Given the description of an element on the screen output the (x, y) to click on. 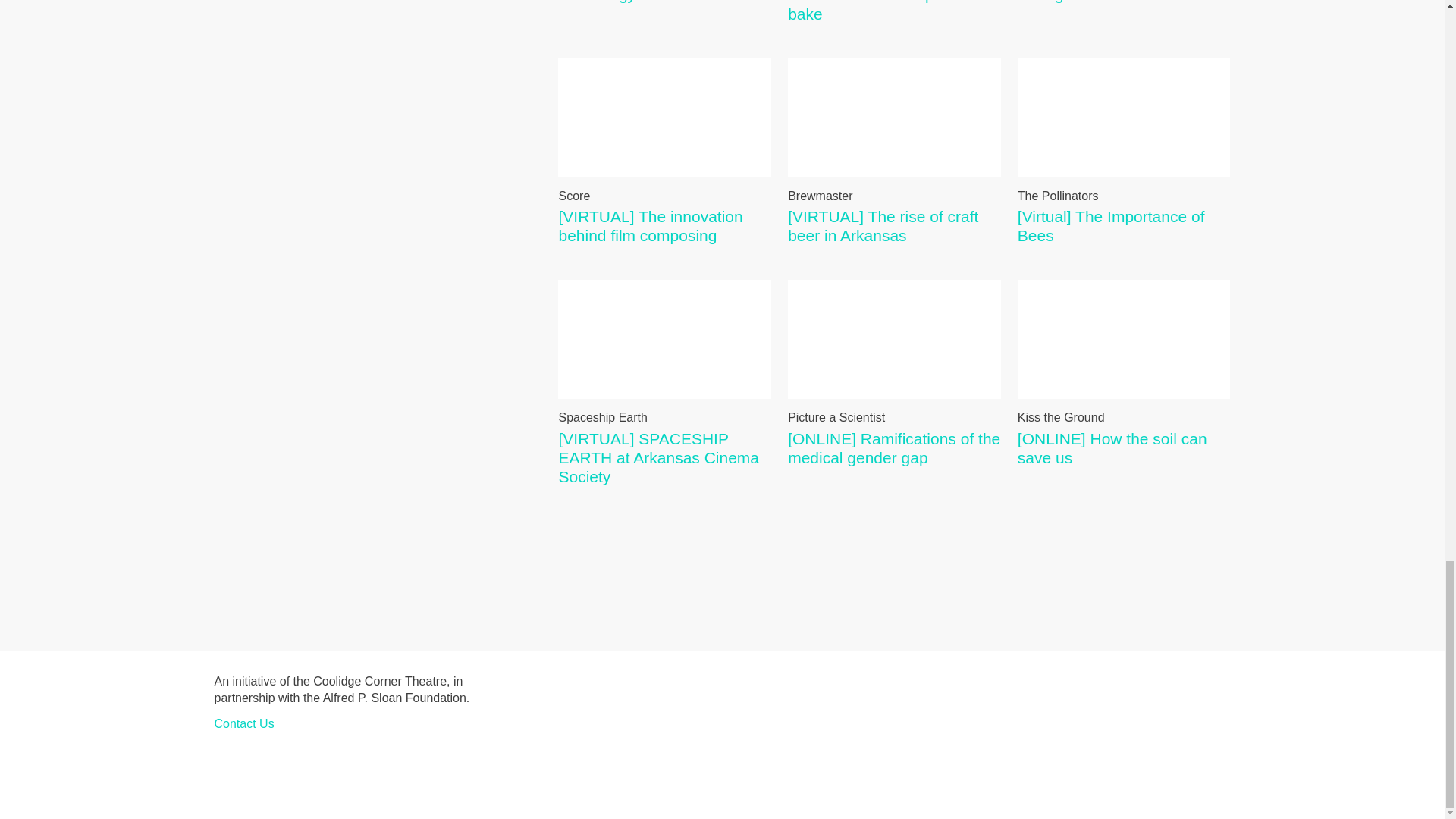
Facebook (296, 765)
Twitter (262, 765)
Sloan Foundation Logo (1184, 703)
Instagram (227, 765)
Coolidge Logo (1064, 703)
YouTube (1123, 2)
Contact Us (331, 765)
